Given the description of an element on the screen output the (x, y) to click on. 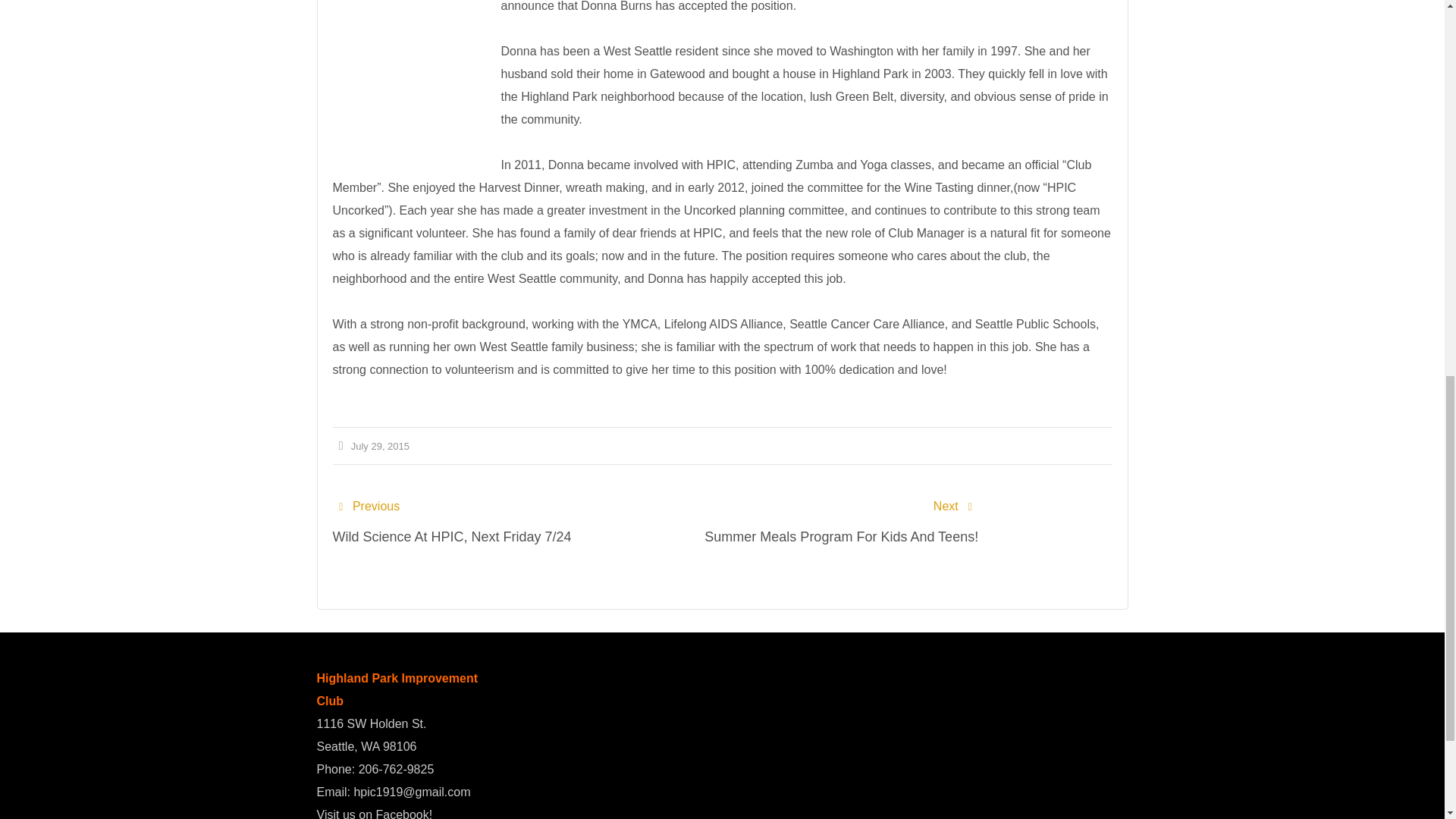
Call with Google Voice (395, 768)
db1 (406, 83)
